Given the description of an element on the screen output the (x, y) to click on. 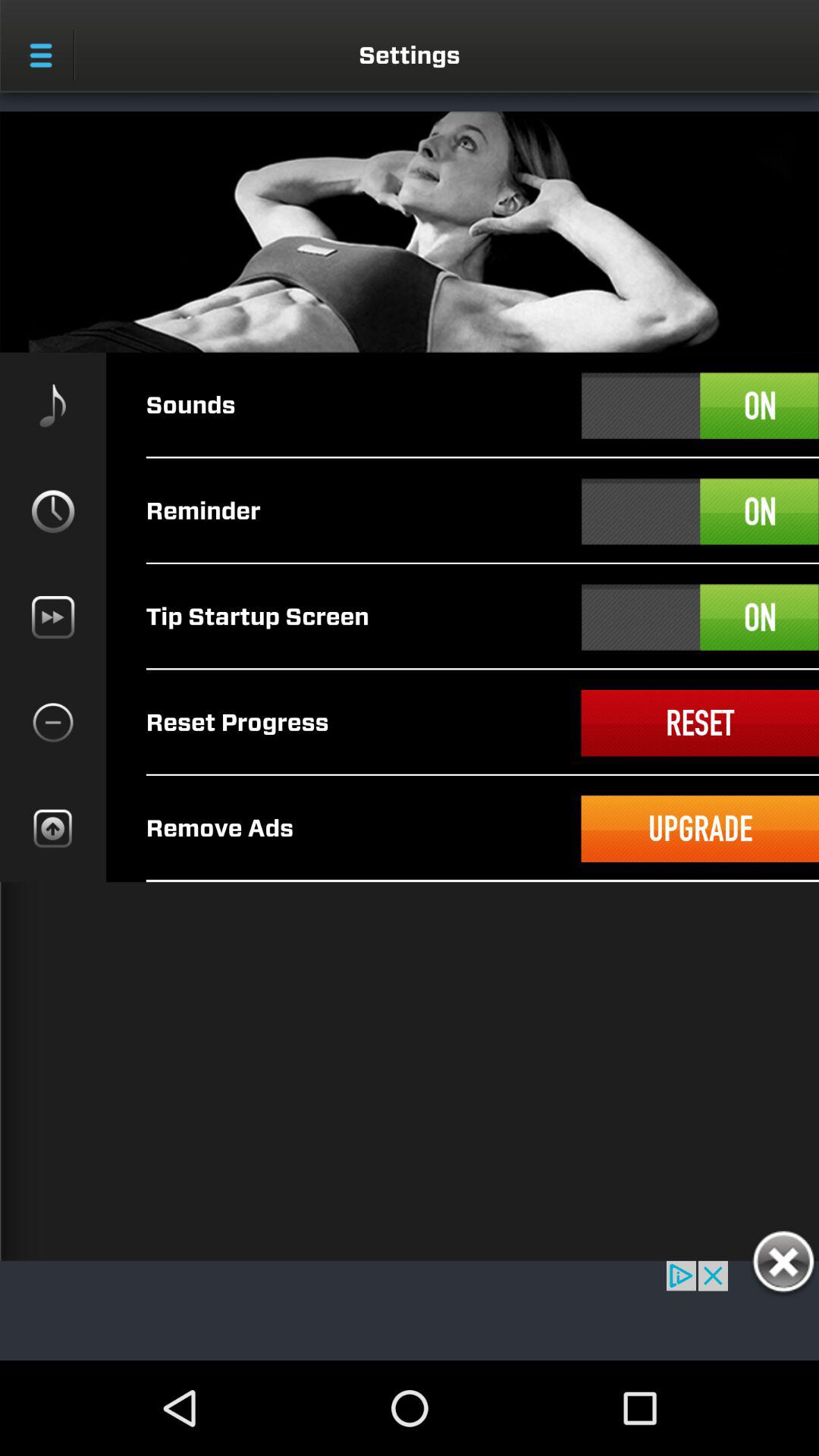
go to gulas patan (783, 1264)
